Given the description of an element on the screen output the (x, y) to click on. 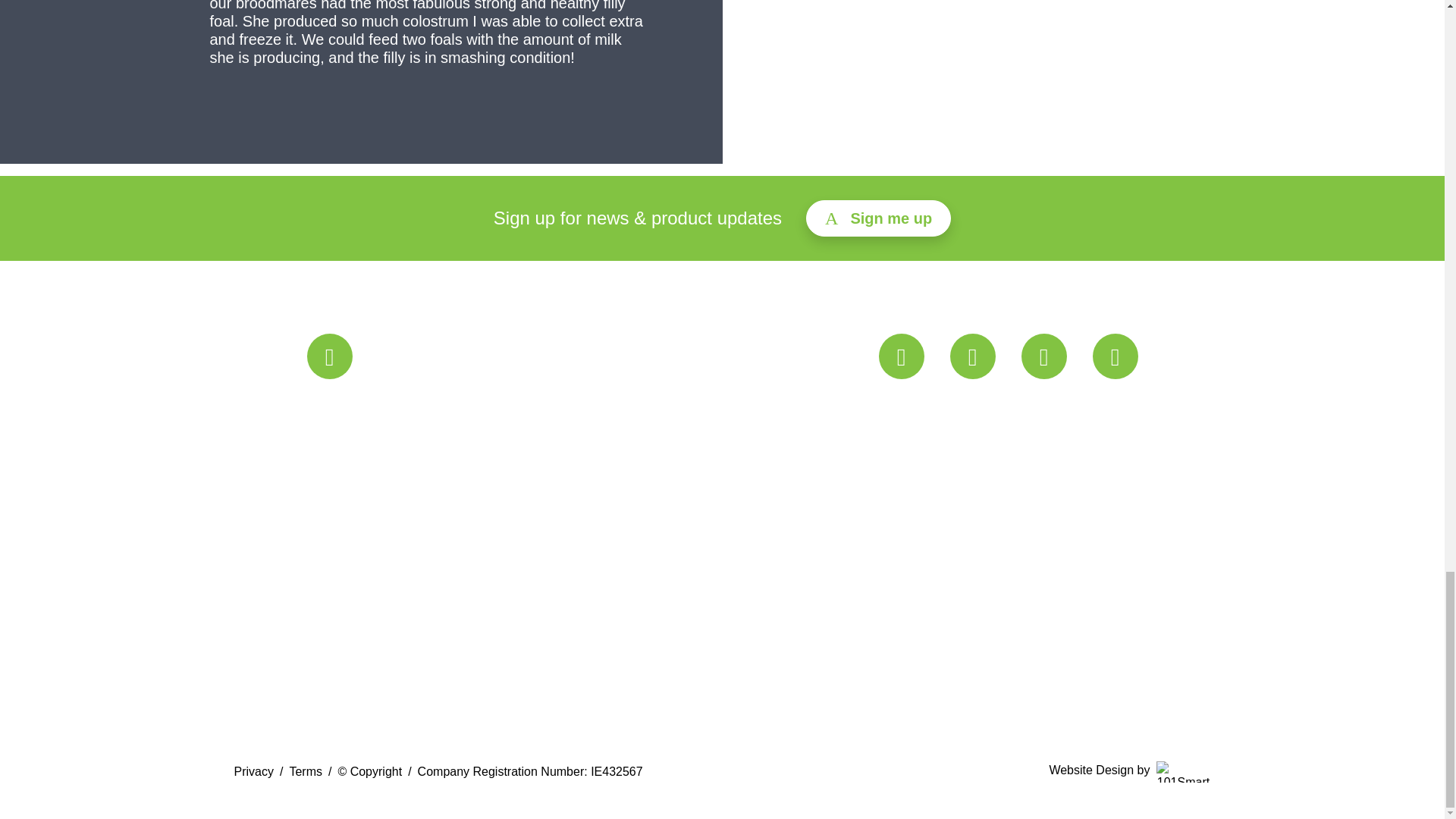
Sign me up (878, 217)
Terms (304, 771)
Privacy (252, 771)
Website Design by (1128, 771)
02893 343900 (399, 356)
Telephone (399, 356)
Email (900, 356)
YouTube (971, 356)
